Given the description of an element on the screen output the (x, y) to click on. 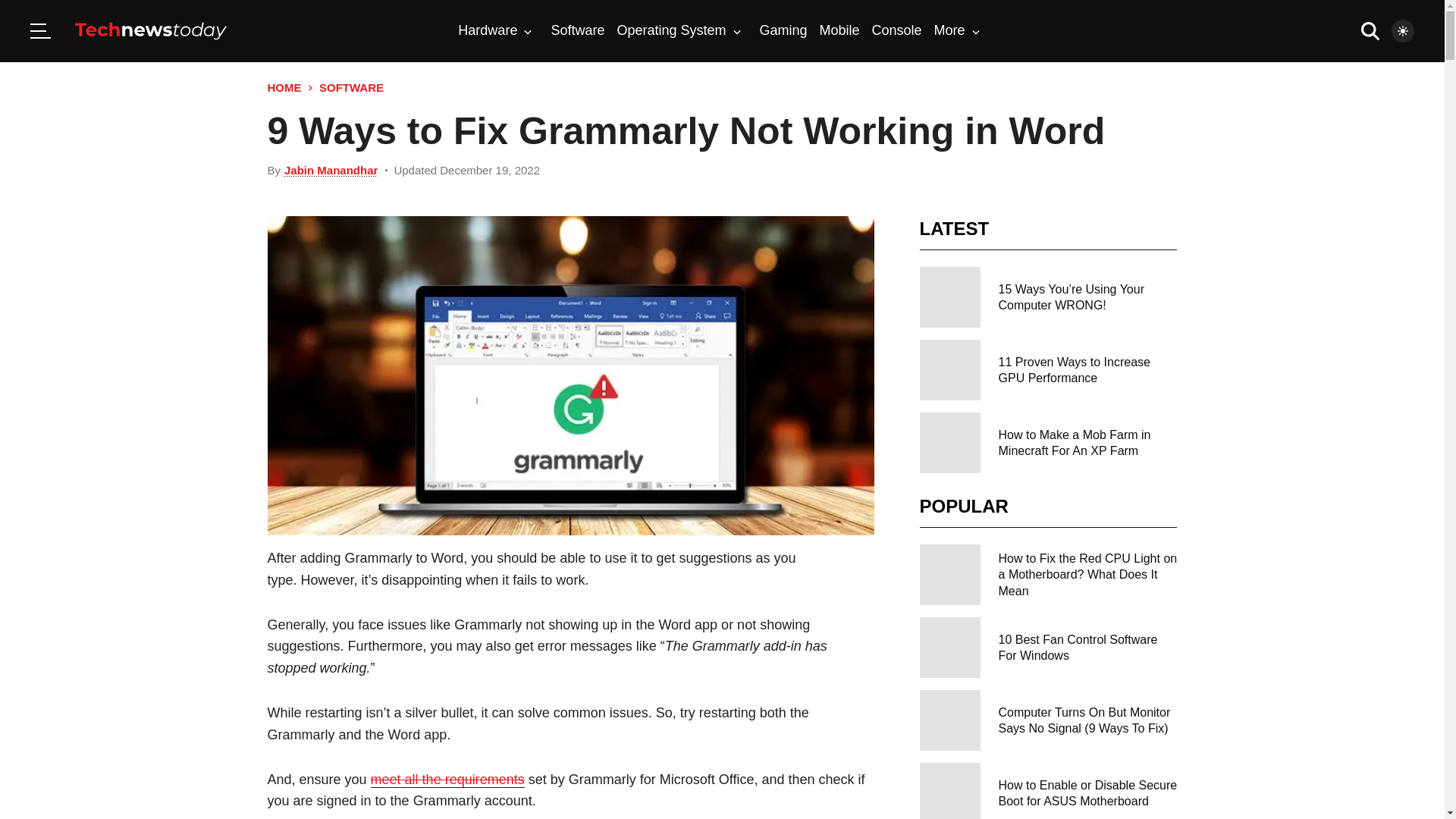
More (956, 30)
Mobile (839, 30)
Hardware (495, 30)
Gaming (784, 30)
Operating System (678, 30)
Console (896, 30)
Software (577, 30)
